Given the description of an element on the screen output the (x, y) to click on. 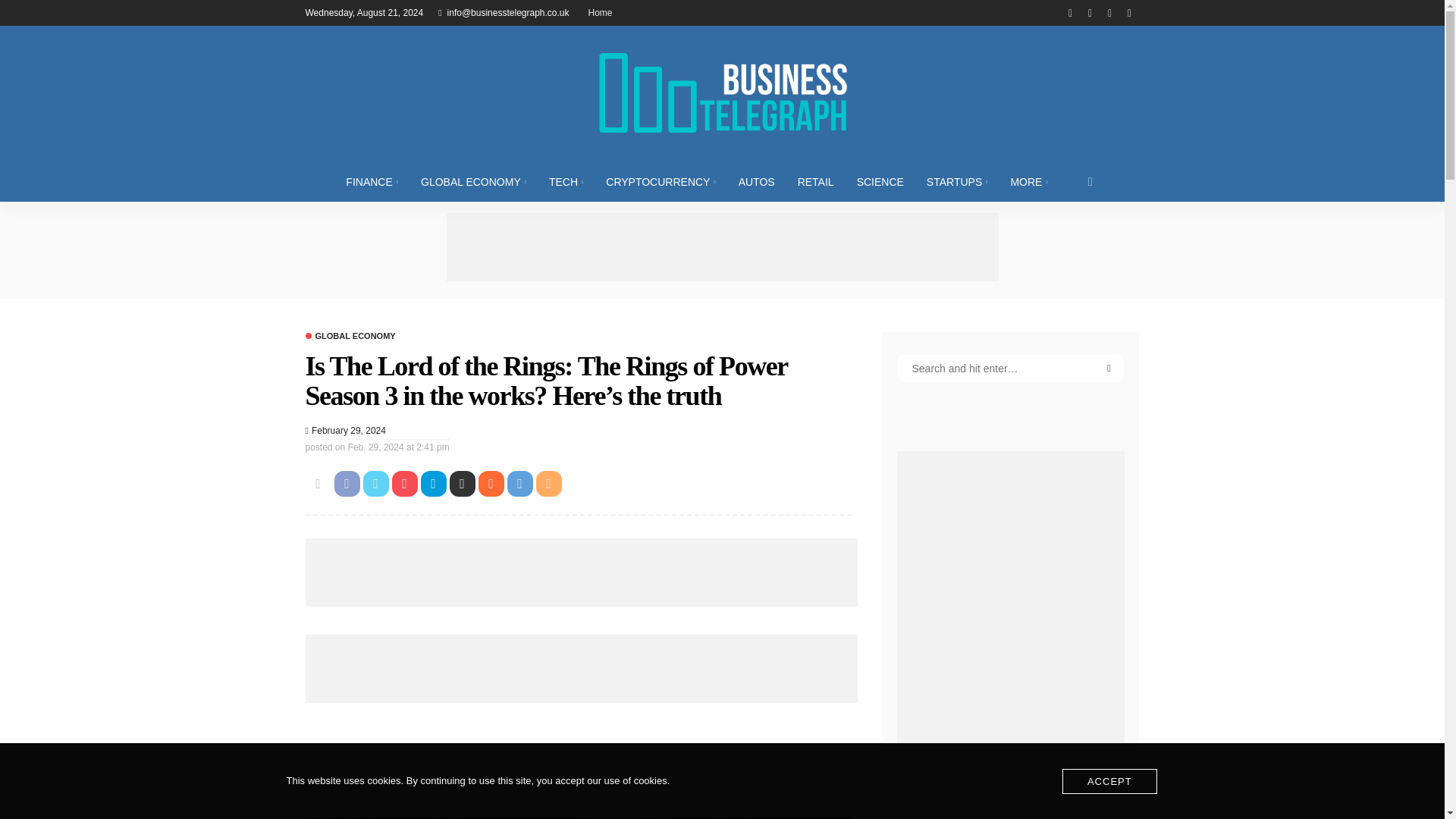
FINANCE (371, 181)
Business Telegraph (721, 93)
search (1089, 181)
Advertisement (721, 246)
Home (600, 12)
Advertisement (580, 757)
Advertisement (580, 572)
Global Economy (349, 336)
